Given the description of an element on the screen output the (x, y) to click on. 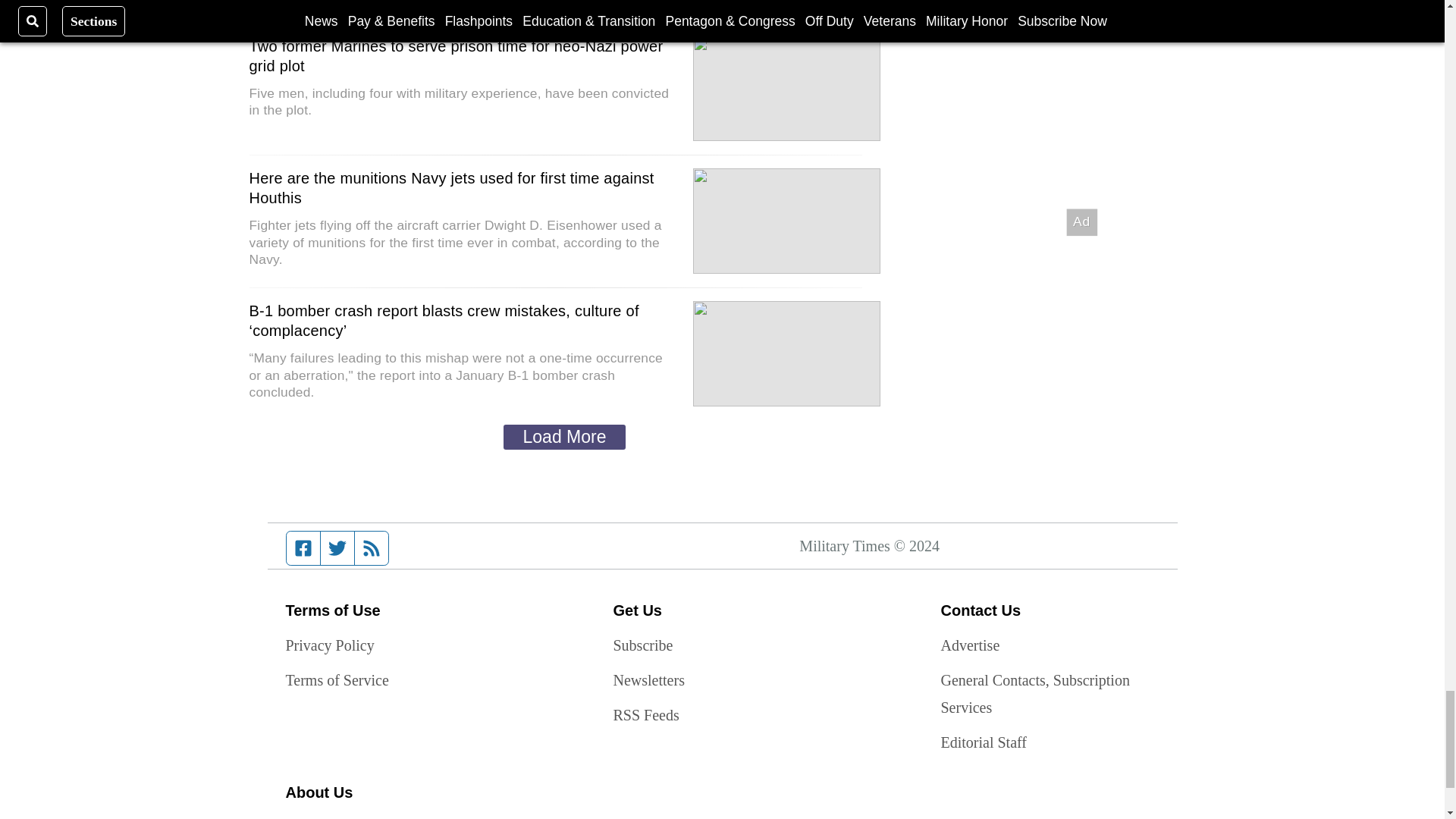
Twitter feed (336, 548)
RSS feed (371, 548)
Facebook page (303, 548)
